Given the description of an element on the screen output the (x, y) to click on. 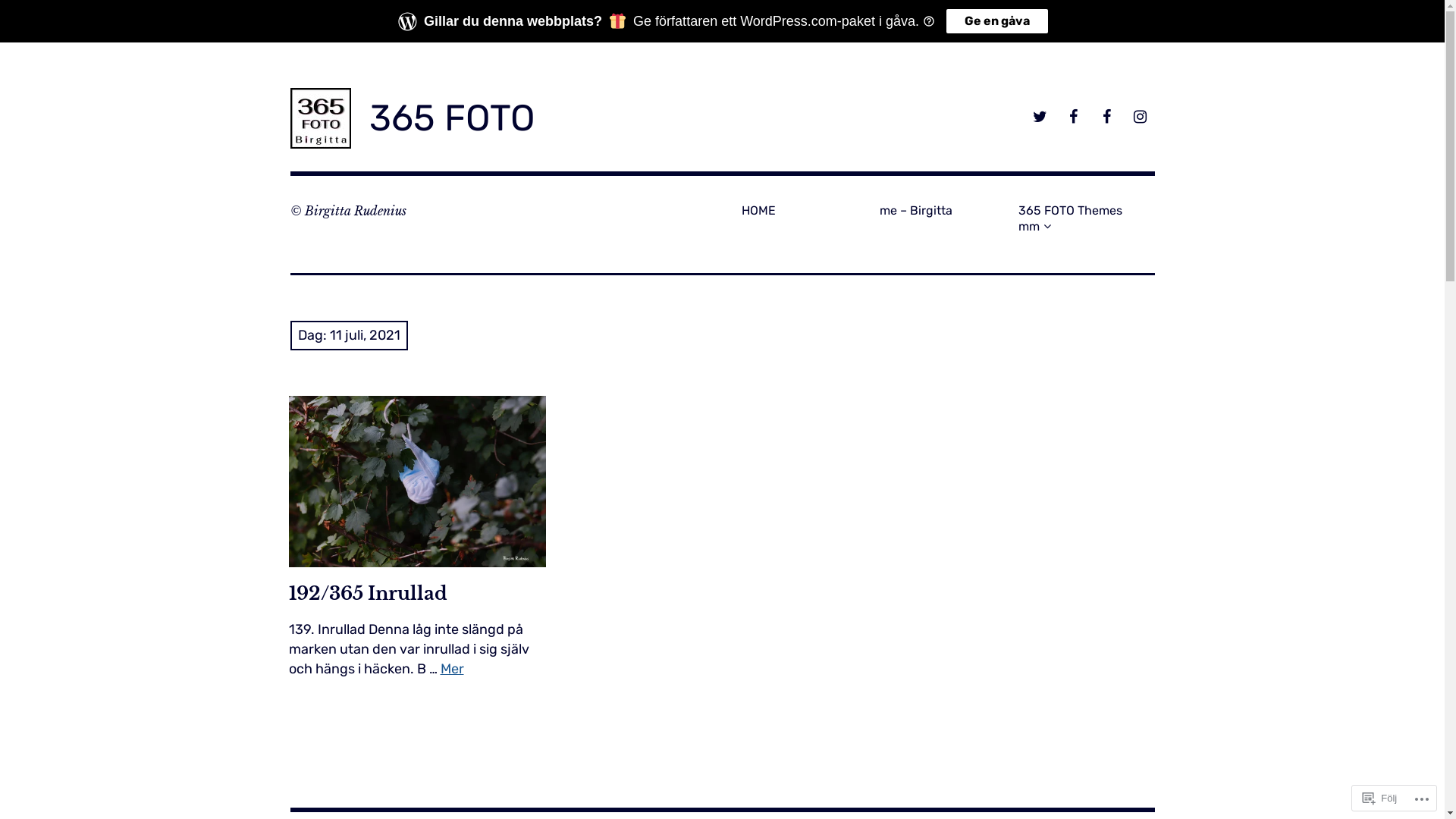
192/365 Inrullad Element type: hover (417, 481)
Mer Element type: text (451, 668)
192/365 Inrullad Element type: text (367, 593)
365 FOTO Element type: text (451, 117)
Instagram Element type: text (1138, 118)
365 foton 2021 Element type: text (300, 725)
Twitter Element type: text (1038, 118)
FOTOchip Element type: text (1072, 118)
HOME Element type: text (804, 210)
Facebook Element type: text (1105, 118)
365 FOTO Themes mm Element type: text (1081, 218)
